Given the description of an element on the screen output the (x, y) to click on. 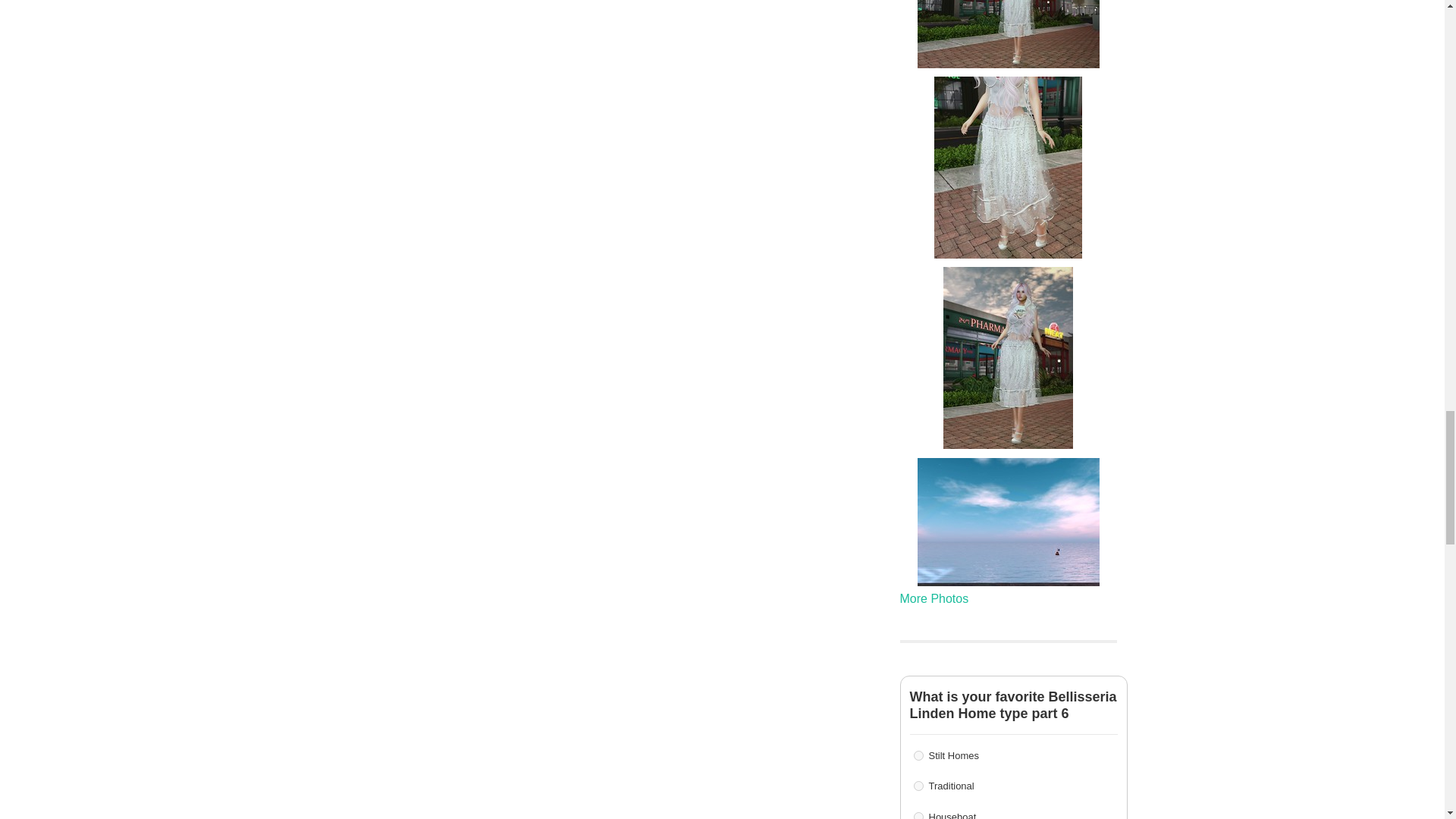
Weekend (1008, 33)
59077704 (917, 815)
59077702 (917, 755)
Heart Sunset EEP (1008, 521)
59077703 (917, 786)
